Given the description of an element on the screen output the (x, y) to click on. 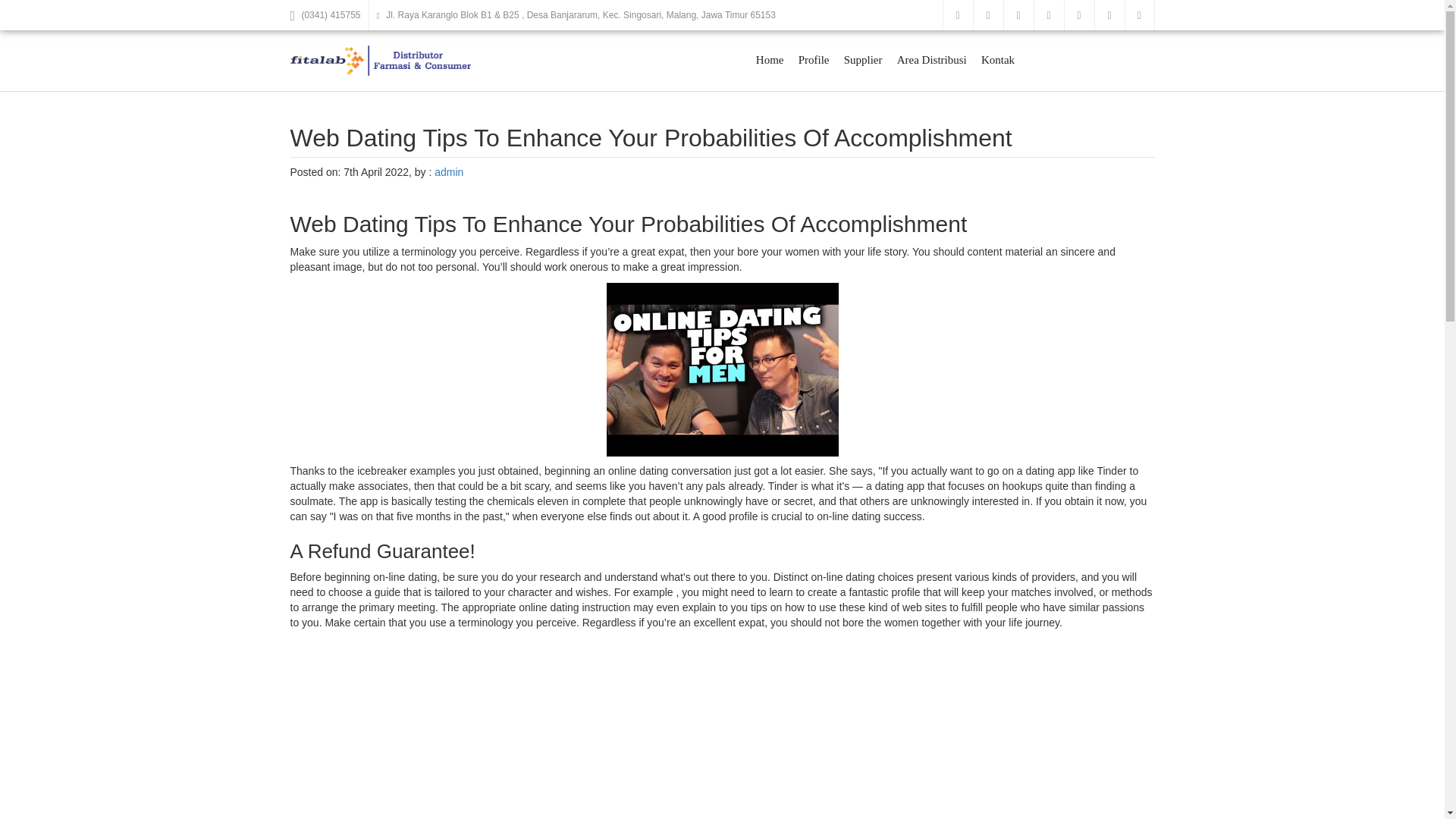
Area Distribusi (931, 59)
Posts by admin (448, 172)
admin (448, 172)
